Given the description of an element on the screen output the (x, y) to click on. 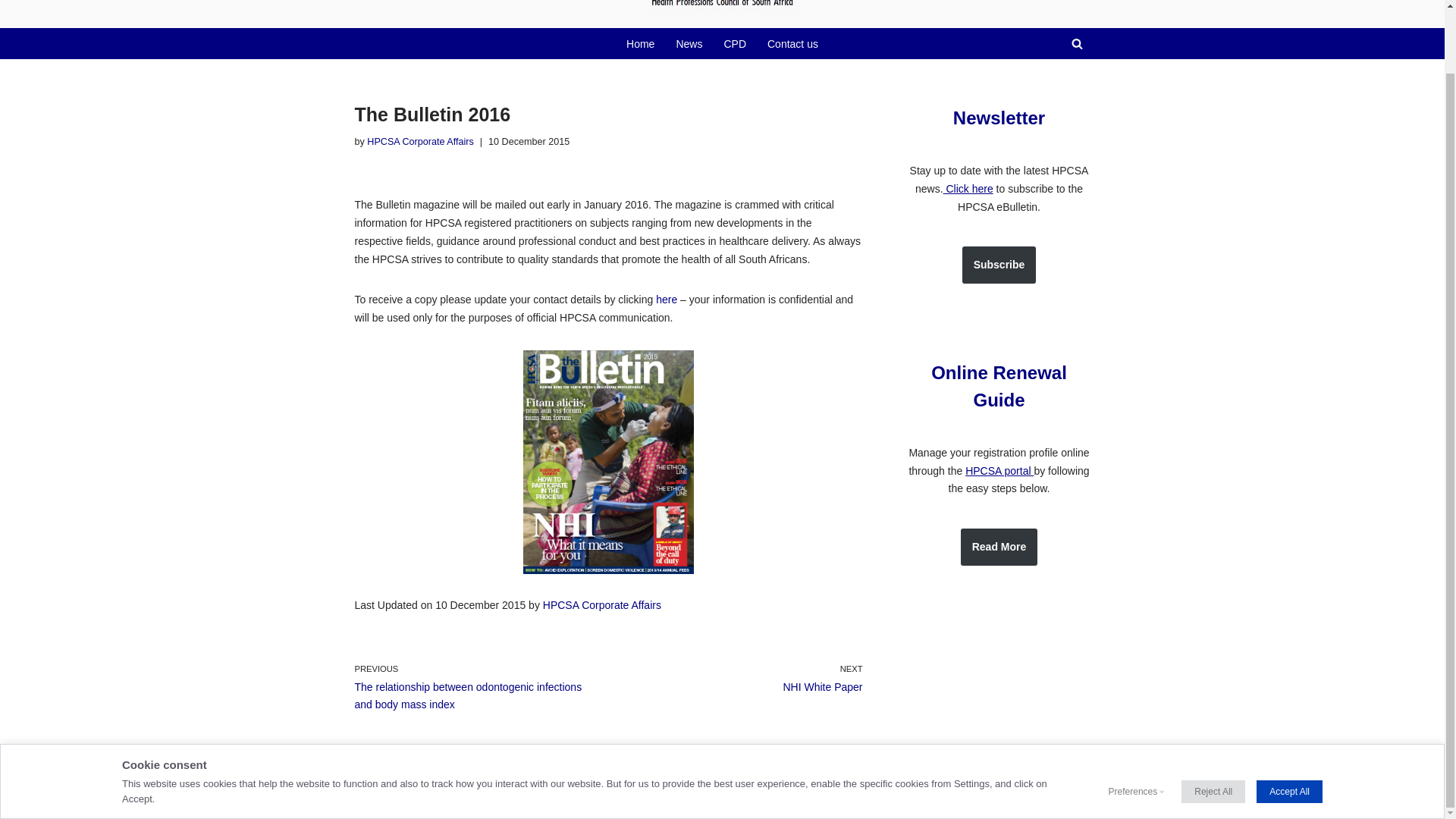
WordPress (472, 799)
Home (639, 43)
CPD (734, 43)
Online Renewal Guide (999, 386)
here (666, 299)
Newsletter (999, 117)
HPCSA portal (999, 470)
Contact us (792, 43)
Neve (367, 799)
Read More (999, 546)
HPCSA Corporate Affairs (419, 141)
Accept All (1289, 721)
Reject All (1212, 721)
News (688, 43)
